Given the description of an element on the screen output the (x, y) to click on. 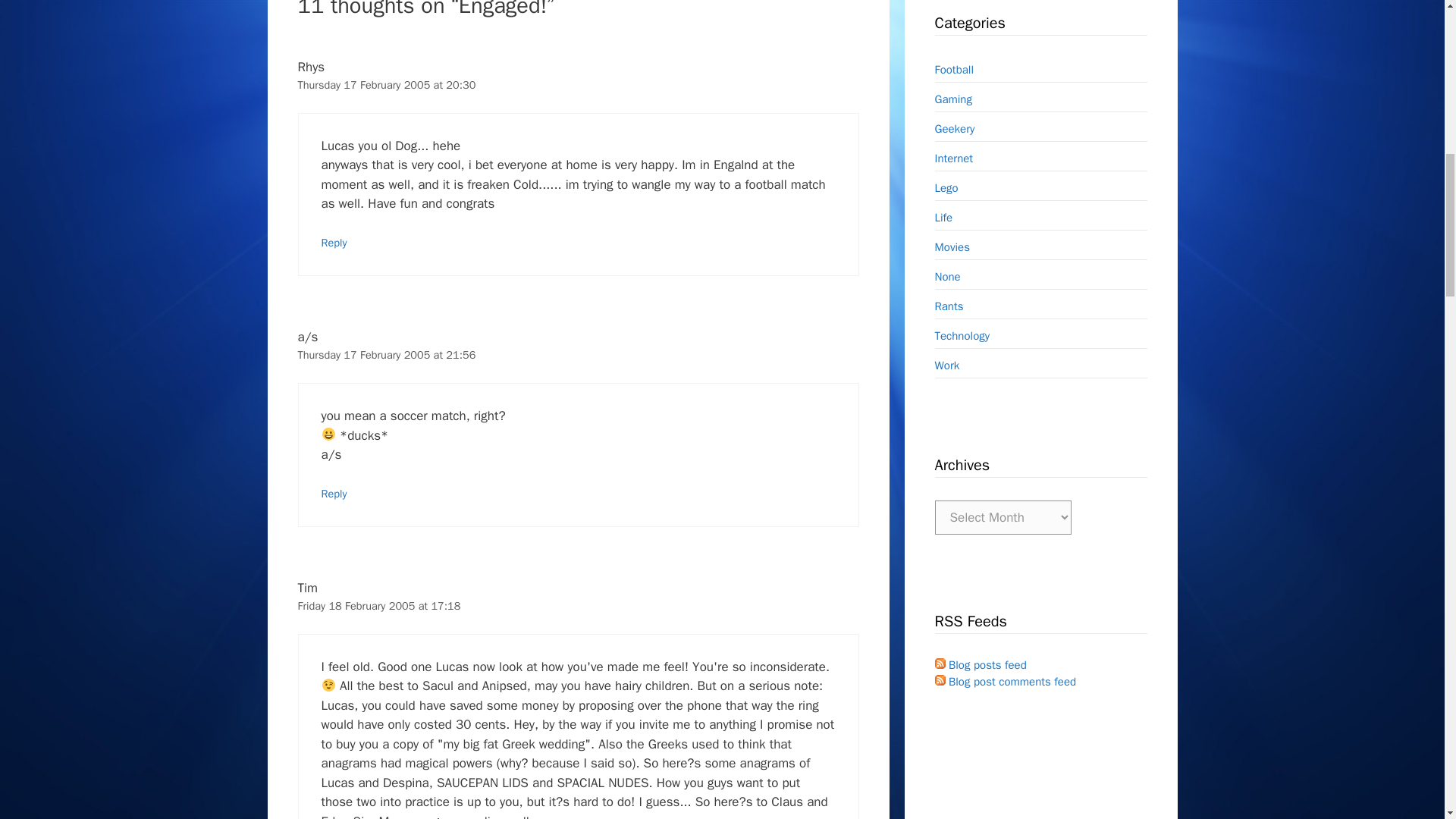
Reply (334, 242)
Reply (334, 493)
Thursday 17 February 2005 at 21:56 (386, 354)
Thursday 17 February 2005 at 20:30 (386, 84)
Friday 18 February 2005 at 17:18 (378, 605)
Scroll back to top (1406, 720)
